Given the description of an element on the screen output the (x, y) to click on. 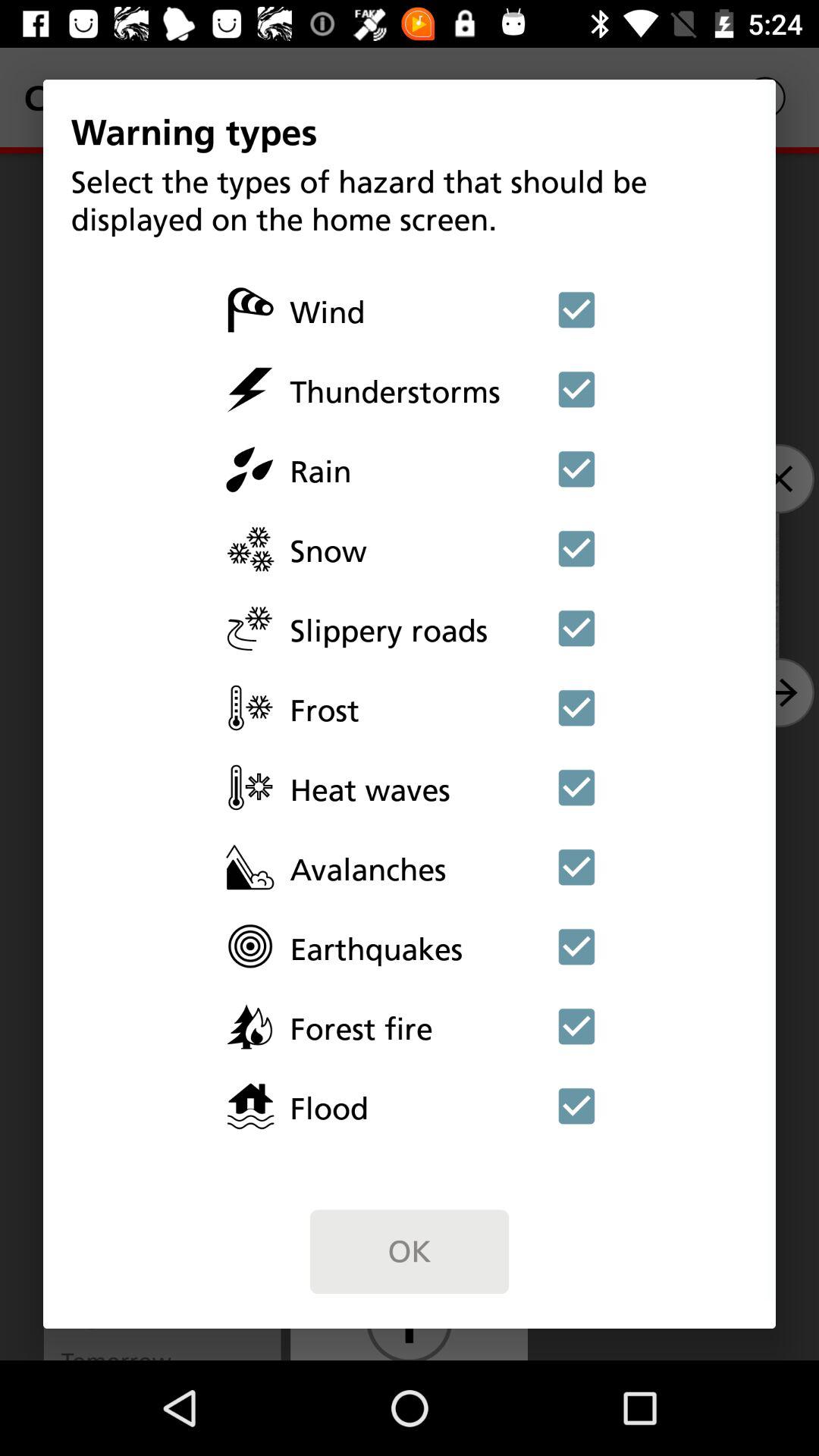
toggle flood warning (576, 1106)
